Given the description of an element on the screen output the (x, y) to click on. 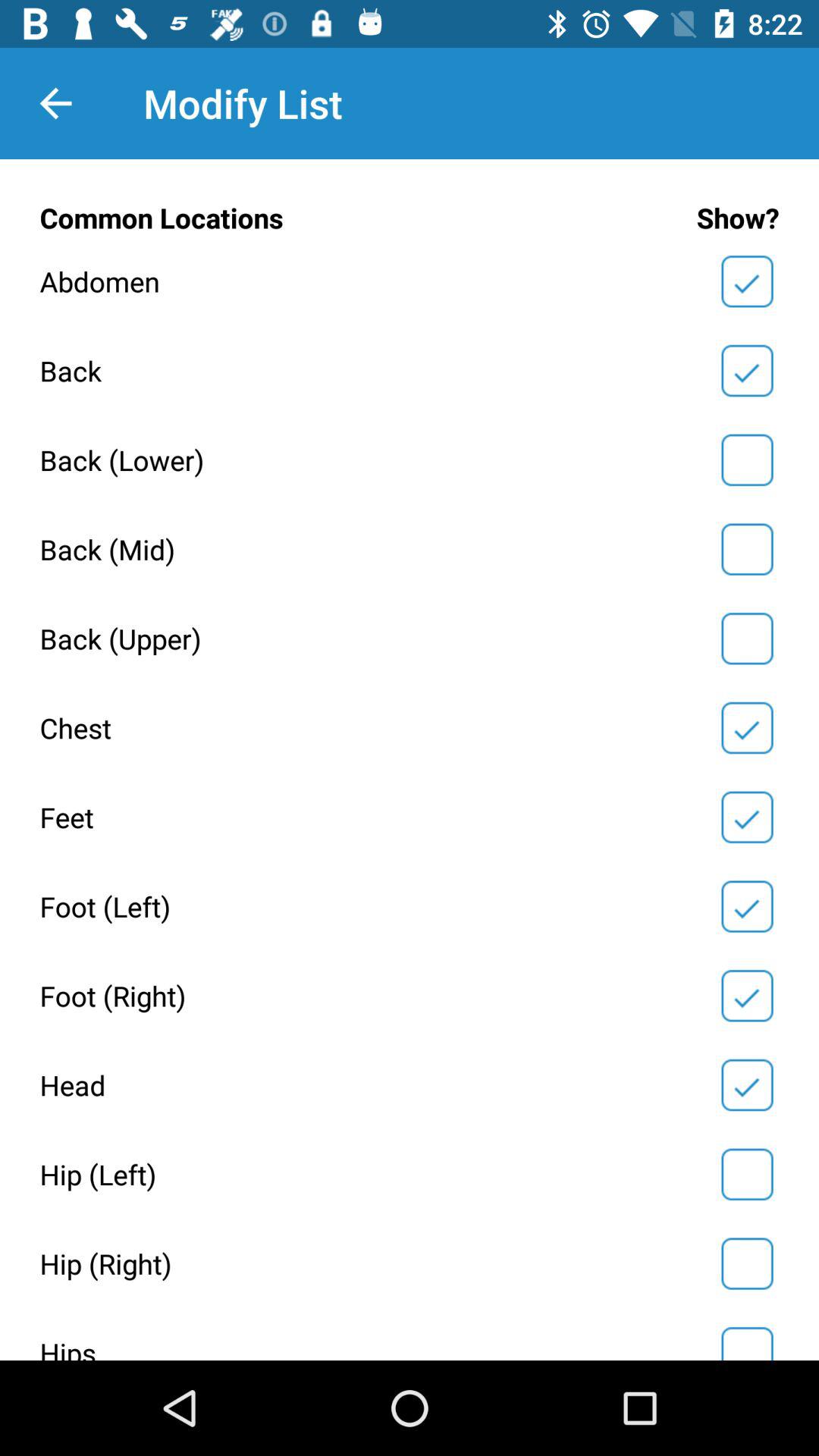
select/deselect (747, 727)
